Given the description of an element on the screen output the (x, y) to click on. 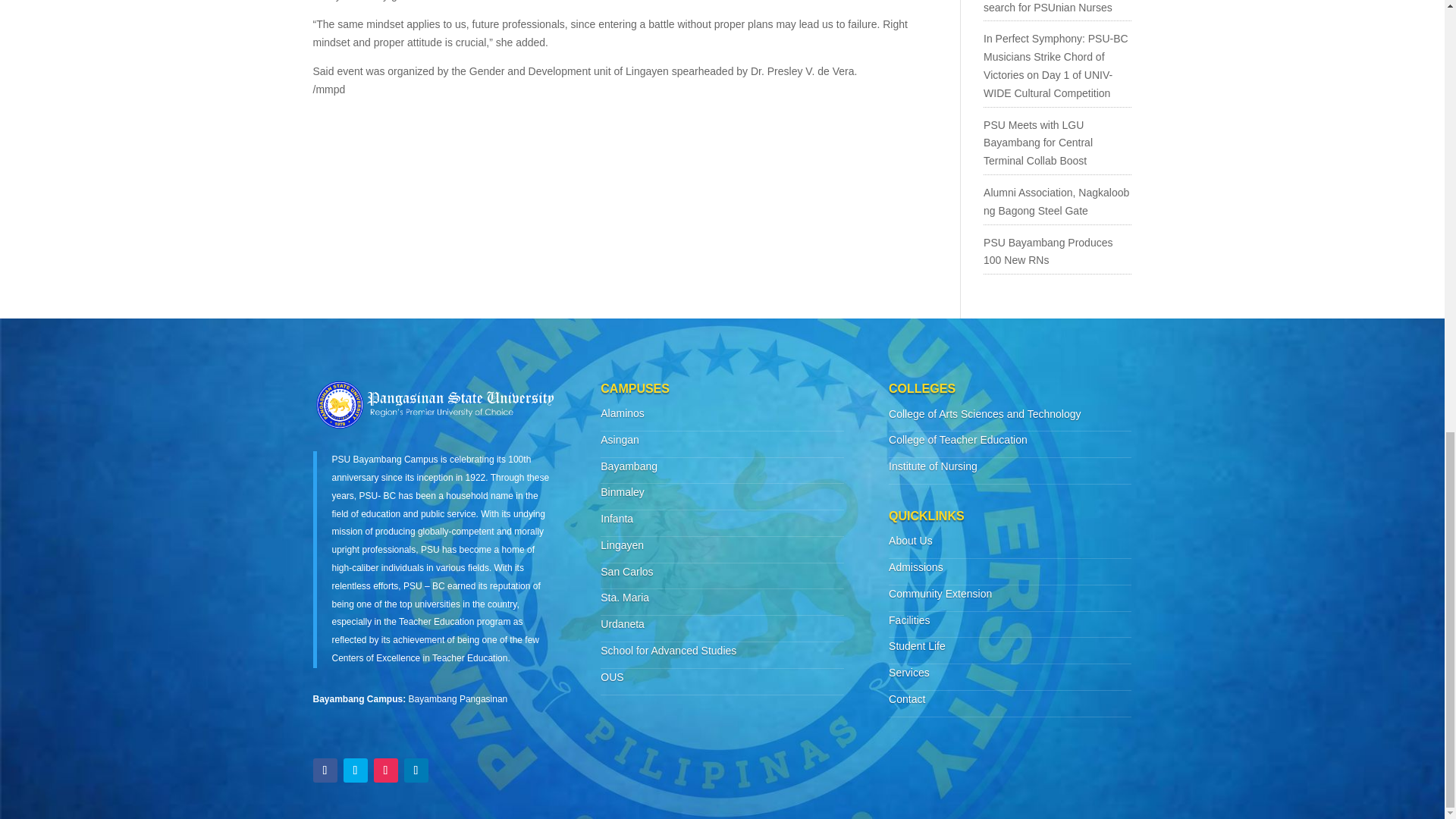
Pangasinan State University Urdaneta Campus (622, 623)
PSU LABEL 2 (433, 404)
Pangasinan State University Binmaley Campus (622, 491)
Pangasinan State University School for Advanced Studies (667, 650)
Pangasinan State University Asingan Campus (619, 439)
Pangasinan State University Lingayen Campus (621, 544)
Pangasinan State University Alaminos Campus (622, 413)
Pangasinan State University San Carlos Campus (625, 571)
Pangasinan State University Infanta Campus (616, 518)
Pangasinan State University Bayambang Campus (628, 465)
Pangasinan State University Sta Maria Campus (624, 597)
